Given the description of an element on the screen output the (x, y) to click on. 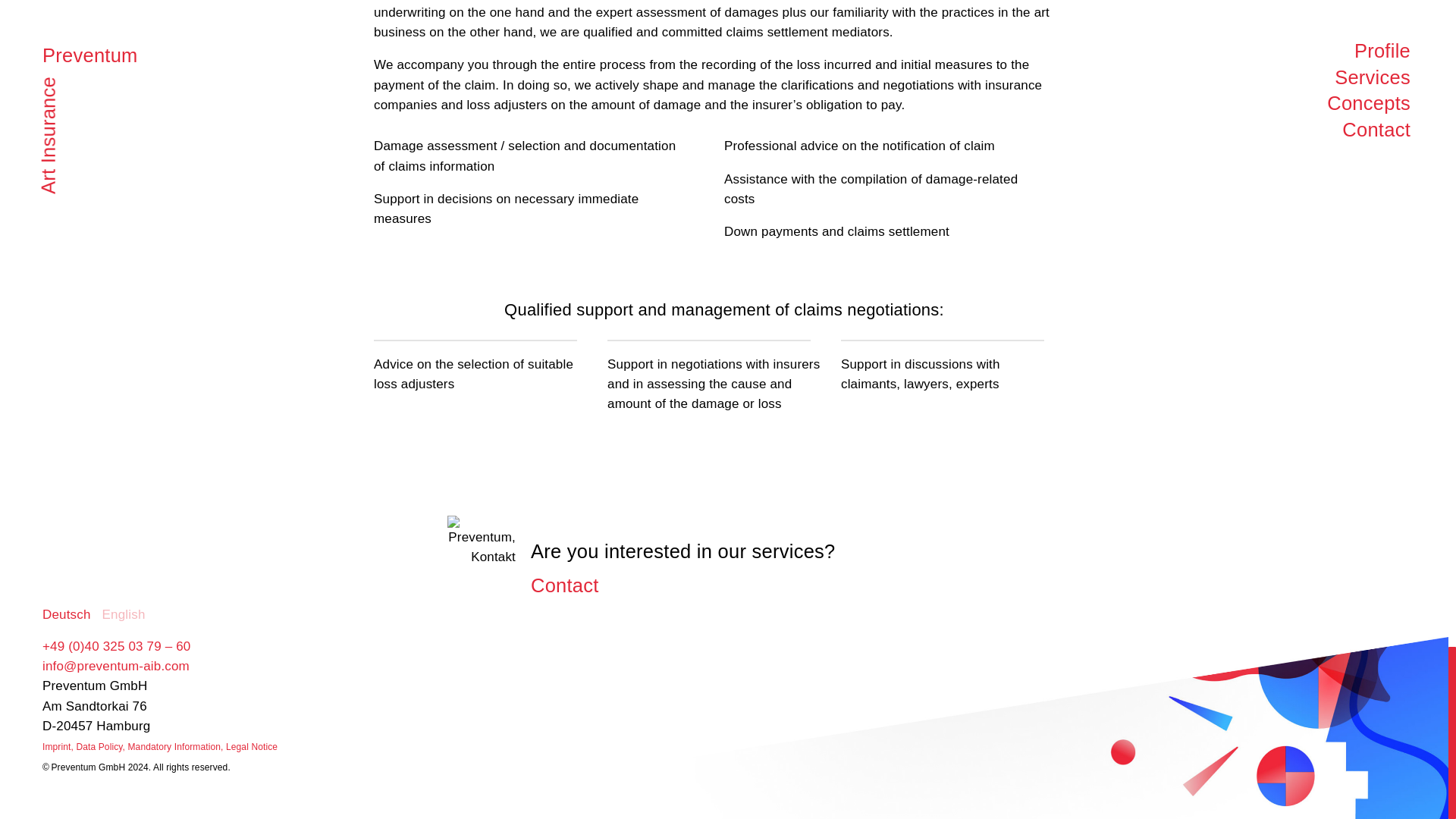
English (123, 614)
Mandatory Information, (176, 747)
Contact (574, 585)
Deutsch (66, 614)
Legal Notice (251, 747)
Data Policy, (101, 747)
Imprint, (58, 747)
